Given the description of an element on the screen output the (x, y) to click on. 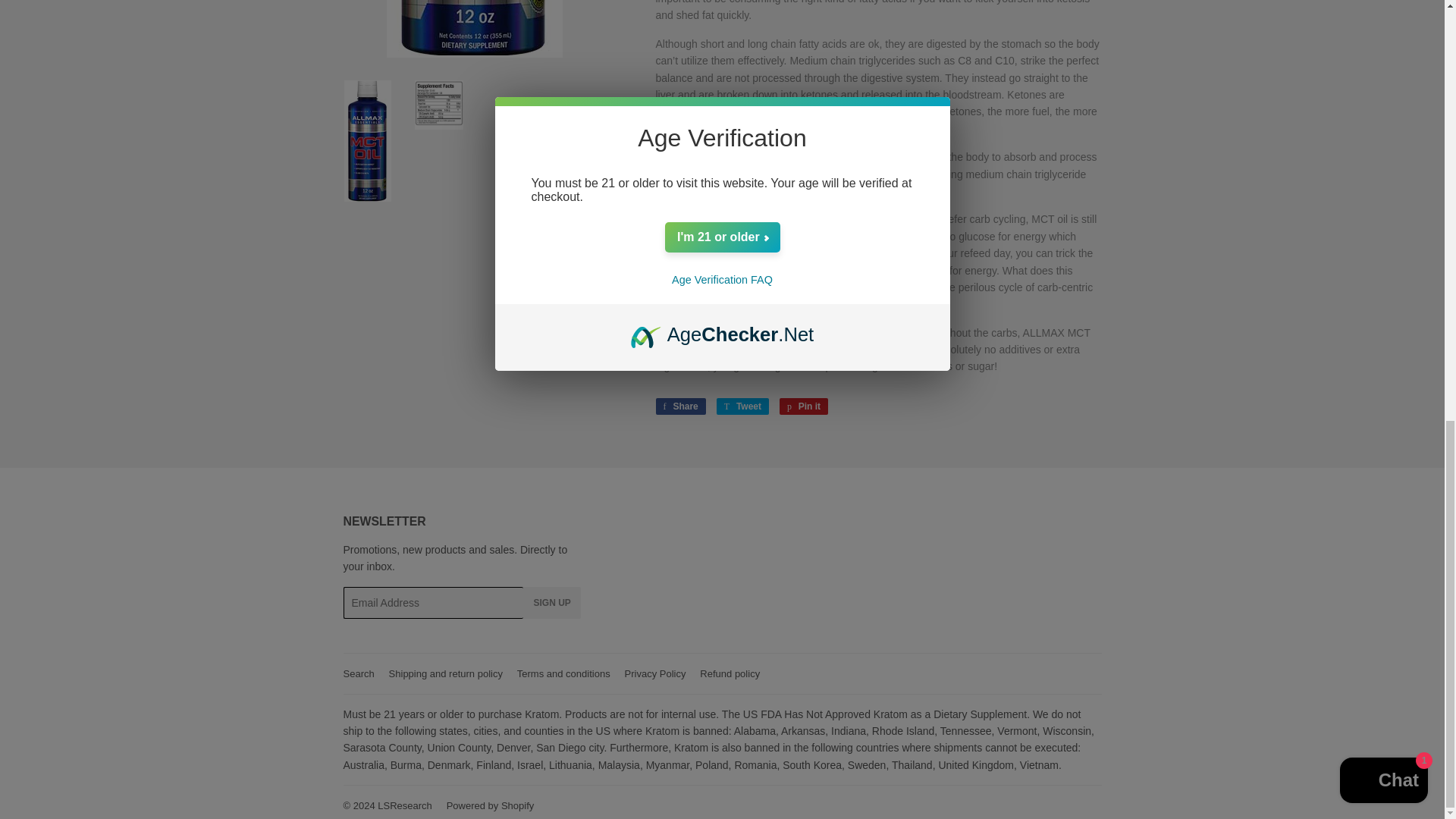
Share on Facebook (679, 406)
Tweet on Twitter (742, 406)
Pin on Pinterest (803, 406)
